Given the description of an element on the screen output the (x, y) to click on. 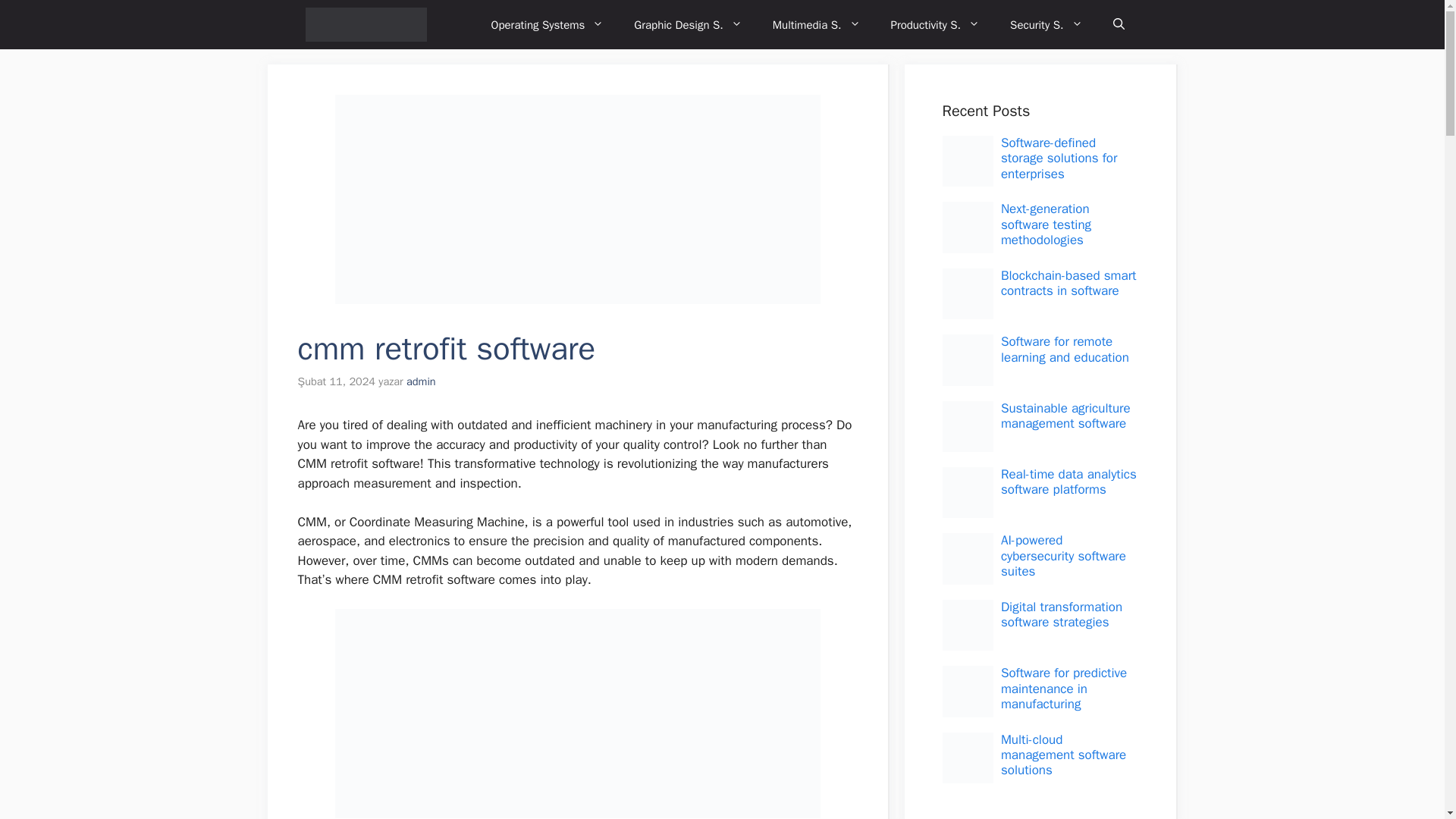
Operating Systems (548, 23)
Productivity S. (935, 23)
Graphic Design S. (687, 23)
admin (420, 381)
Security S. (1045, 23)
Multimedia S. (816, 23)
